Given the description of an element on the screen output the (x, y) to click on. 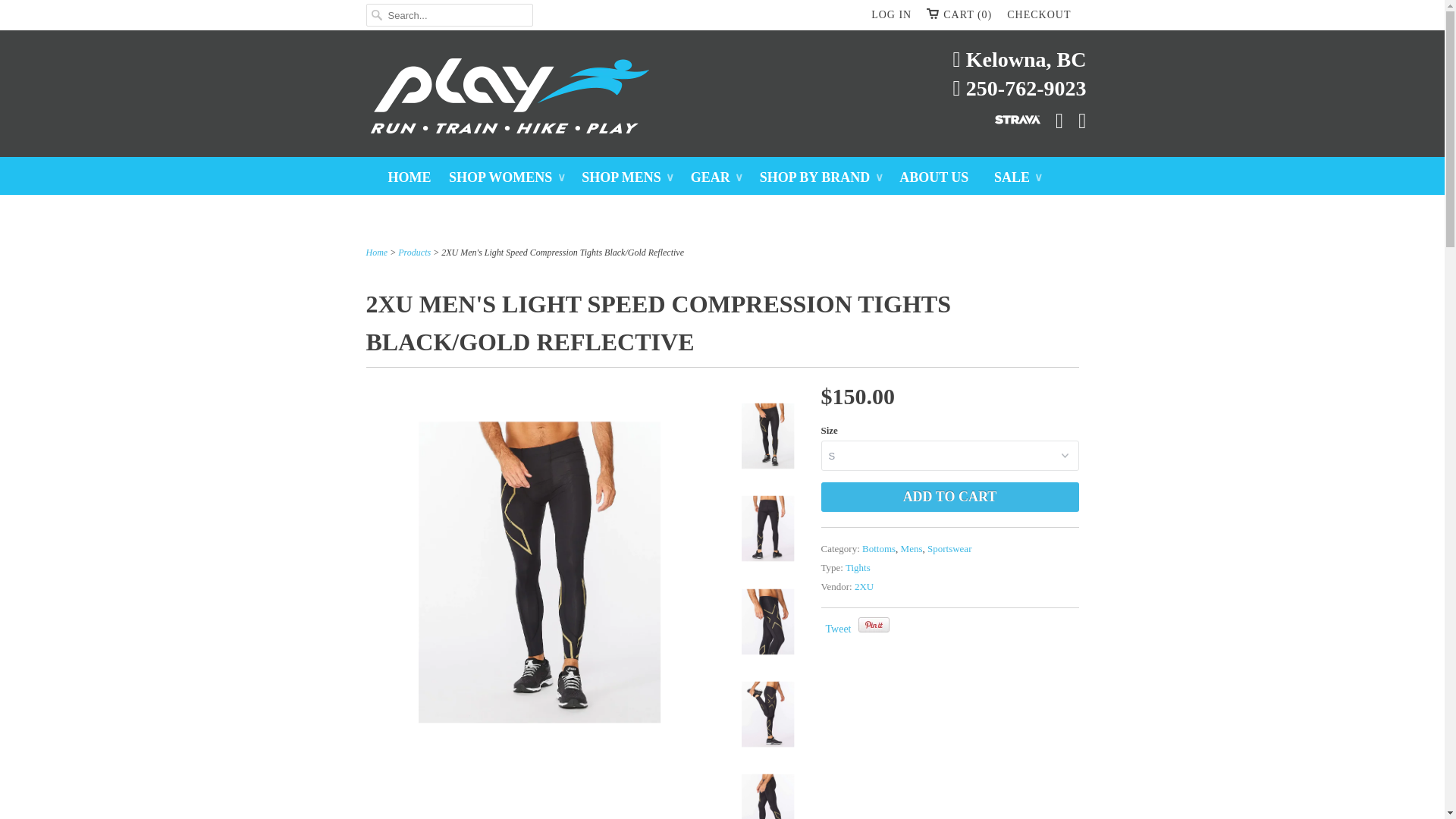
HOME (409, 177)
Play Stores Inc on Strava (1010, 116)
Shop Womens (506, 177)
Cart (958, 15)
Add to Cart (949, 496)
250-762-9023 (1019, 88)
CHECKOUT (1038, 15)
Play Stores Inc (721, 98)
Checkout (1038, 15)
LOG IN (890, 15)
